Given the description of an element on the screen output the (x, y) to click on. 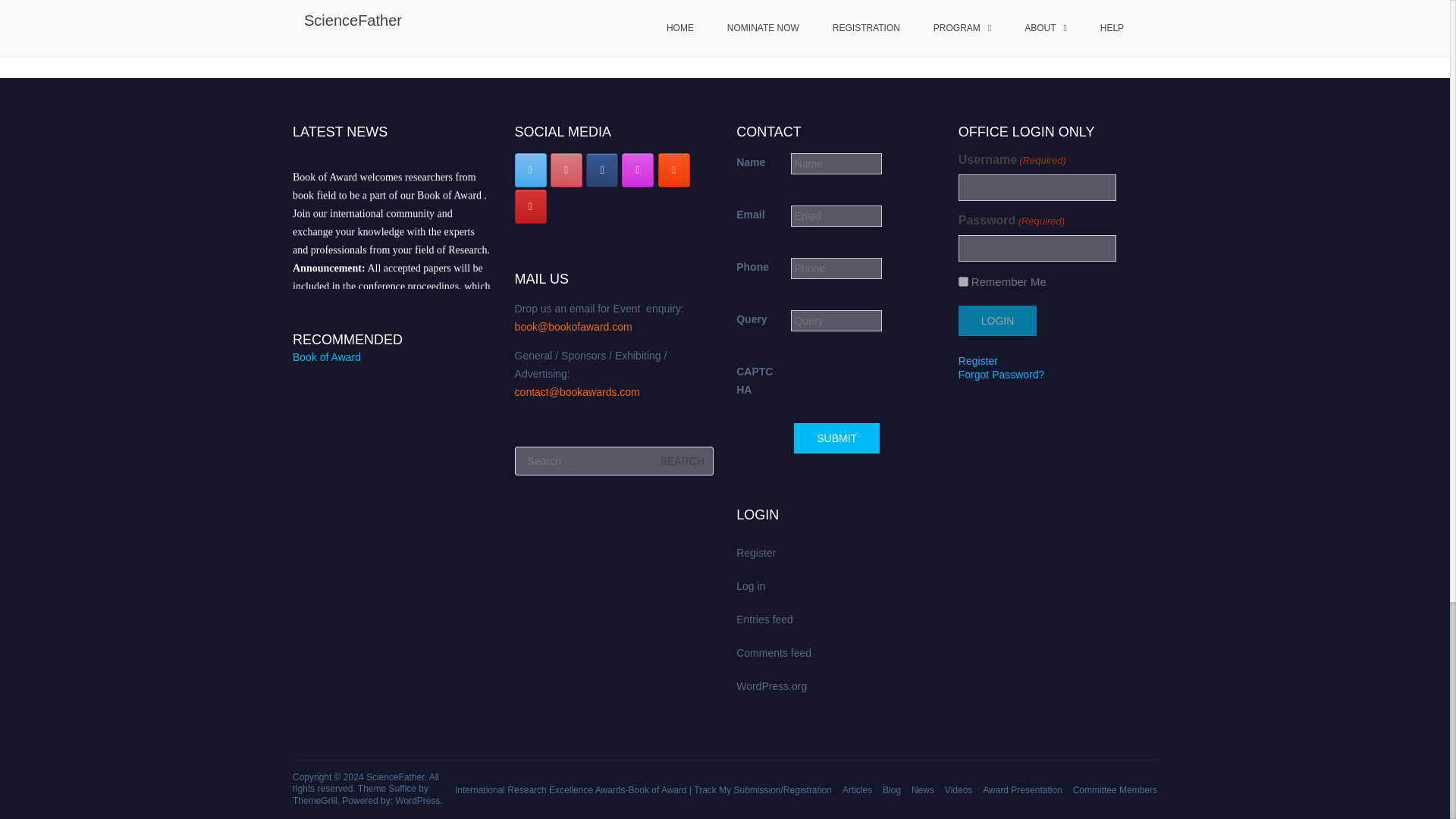
Search (681, 460)
ScienceFather on Blogger B (674, 170)
ScienceFather on Youtube (531, 206)
Register (977, 360)
ScienceFather on X Twitter (531, 170)
WordPress (416, 800)
ScienceFather (395, 777)
ScienceFather on Pinterest (566, 170)
Login (997, 320)
ScienceFather on Instagram (637, 170)
Search (681, 460)
ScienceFather on Facebook (601, 170)
1 (963, 281)
Forgot Password? (1001, 374)
Suffice (401, 787)
